Given the description of an element on the screen output the (x, y) to click on. 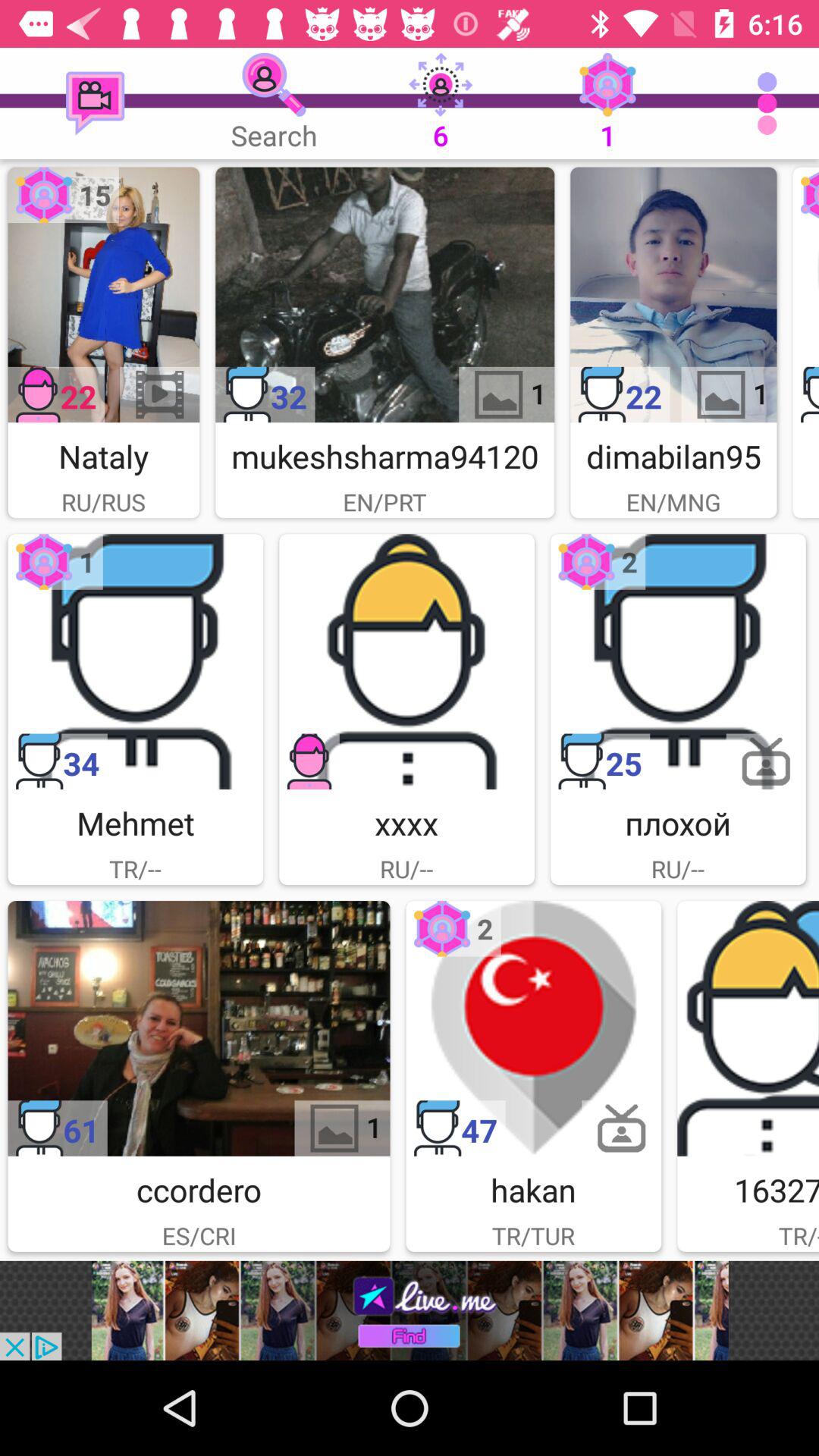
selection choice (677, 661)
